Given the description of an element on the screen output the (x, y) to click on. 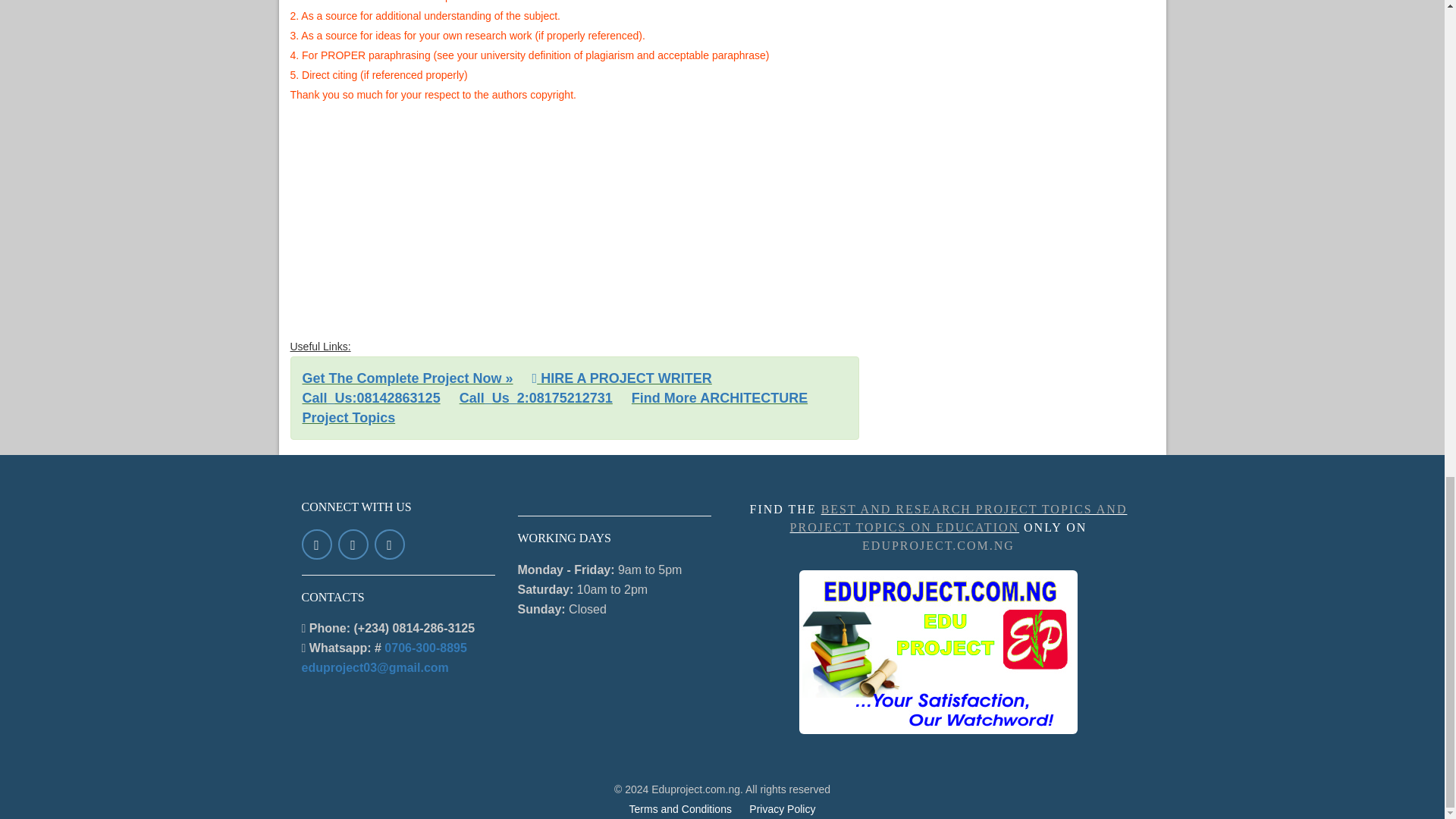
HIRE A PROJECT WRITER (621, 378)
Terms and Condition (680, 808)
Privacy Policy (782, 808)
EDUPROJECT.COM.NG (937, 545)
RESEARCH PROJECT TOPICS AND PROJECT TOPICS ON EDUCATION (958, 517)
0706-300-8895 (425, 647)
Find More ARCHITECTURE Project Topics (554, 407)
RESEARCH PROJECT TOPICS AND PROJECT TOPICS ON EDUCATION (938, 651)
